Given the description of an element on the screen output the (x, y) to click on. 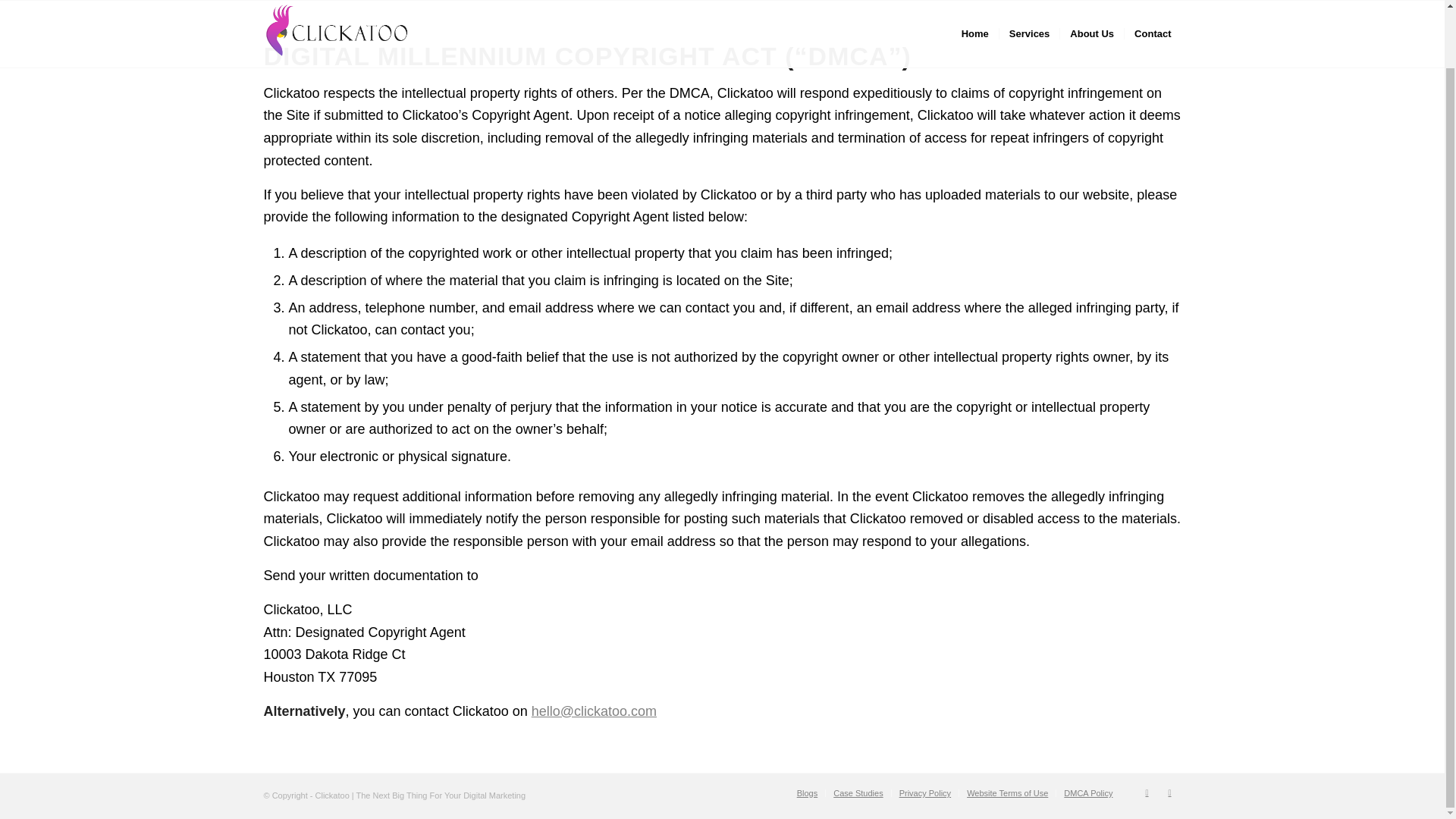
LinkedIn (1146, 792)
Case Studies (857, 792)
About Us (1091, 2)
Privacy Policy (924, 792)
Services (1028, 2)
Website Terms of Use (1007, 792)
Home (975, 2)
Blogs (807, 792)
Facebook (1169, 792)
DMCA Policy (1088, 792)
